Given the description of an element on the screen output the (x, y) to click on. 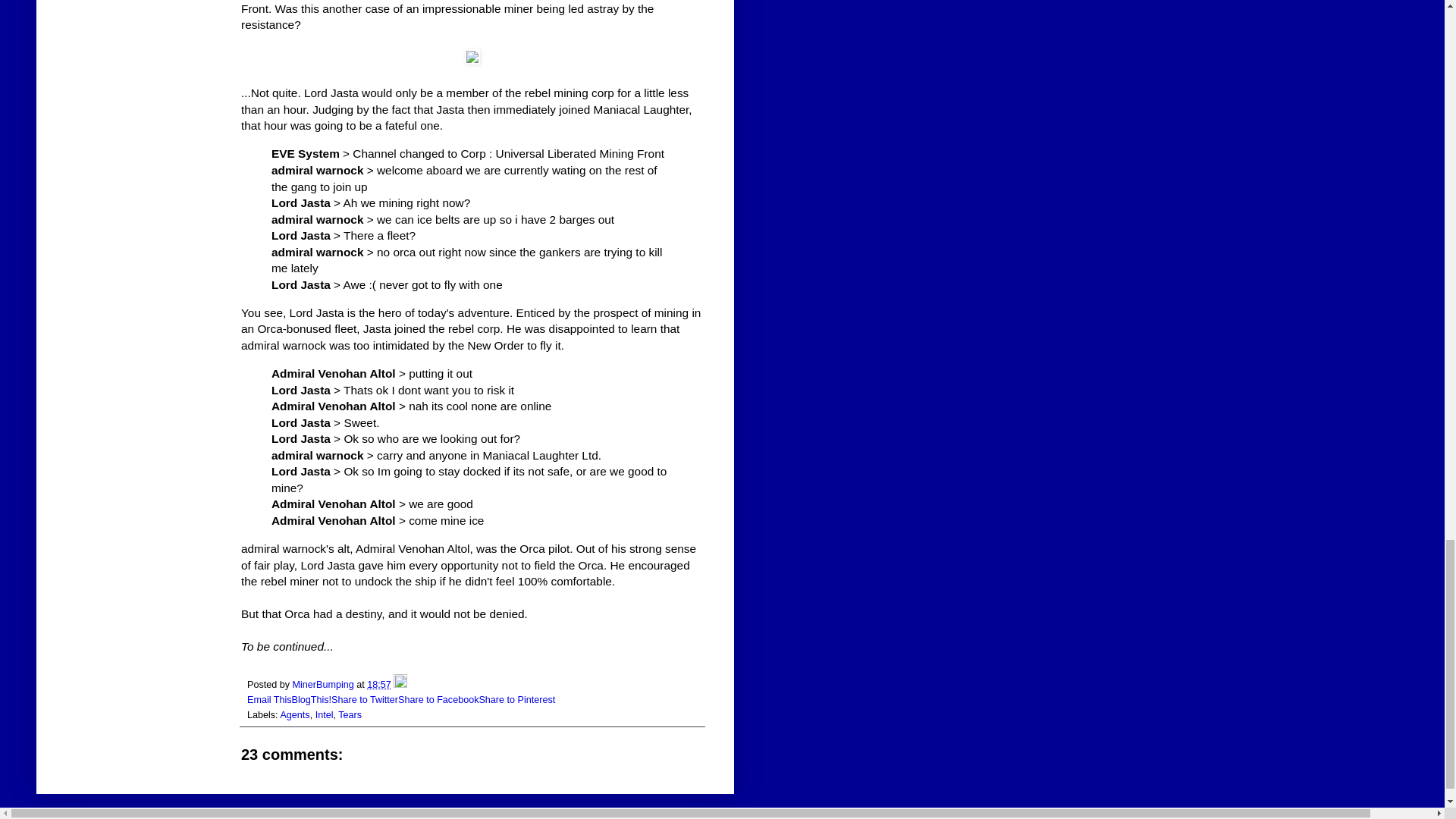
Intel (324, 715)
BlogThis! (311, 699)
Share to Pinterest (516, 699)
MinerBumping (324, 684)
Agents (293, 715)
author profile (324, 684)
BlogThis! (311, 699)
Share to Facebook (438, 699)
18:57 (378, 684)
Share to Facebook (438, 699)
Email This (269, 699)
Share to Pinterest (516, 699)
permanent link (378, 684)
Edit Post (400, 684)
Share to Twitter (364, 699)
